Given the description of an element on the screen output the (x, y) to click on. 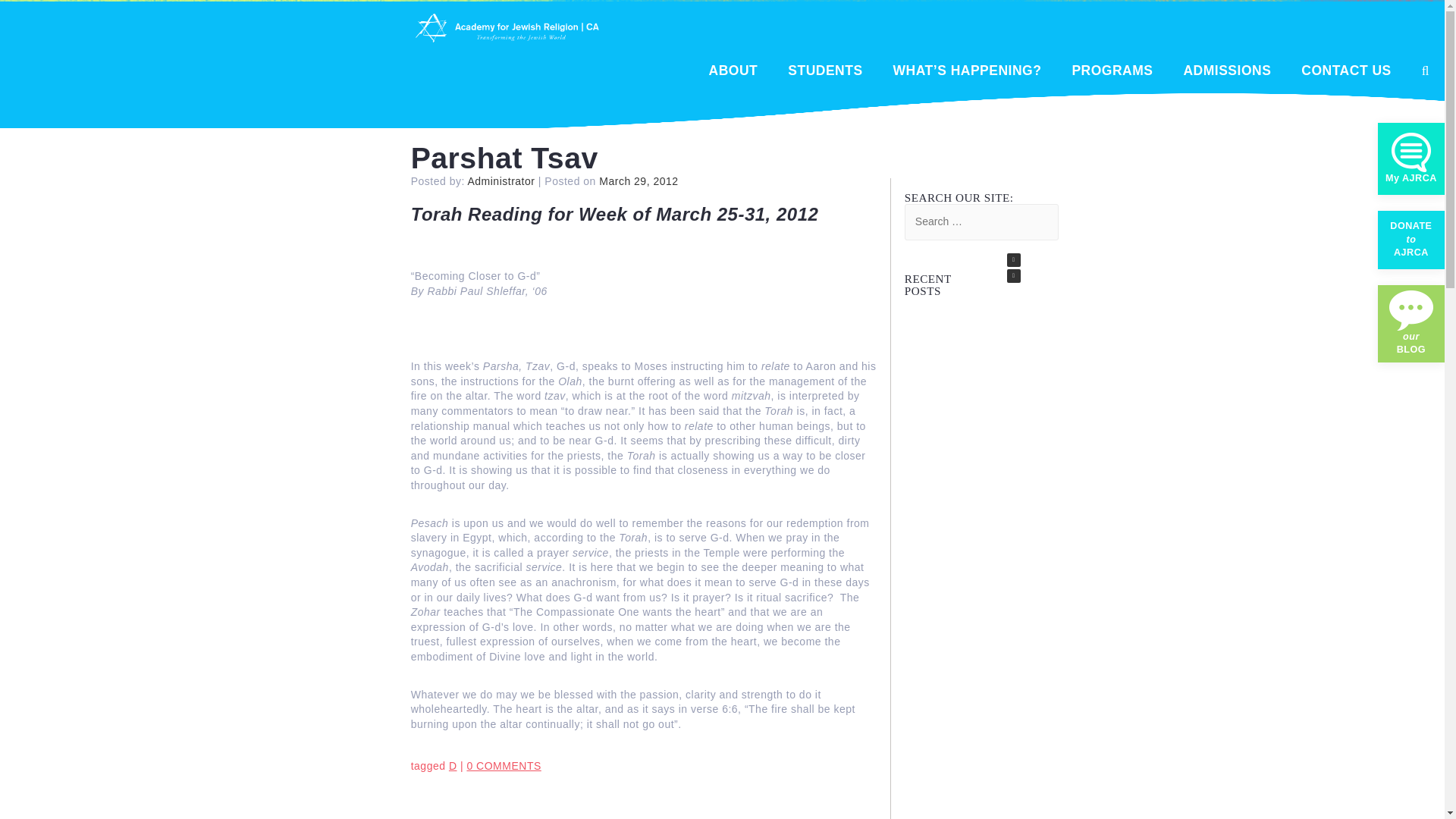
ABOUT (733, 72)
ADMISSIONS (1226, 72)
PROGRAMS (1112, 72)
Comments on Parshat Tsav (502, 766)
STUDENTS (824, 72)
Parshat Tsav (504, 157)
Previous (1013, 275)
March 29, 2012 (638, 181)
Next (1013, 259)
Administrator (502, 181)
